Given the description of an element on the screen output the (x, y) to click on. 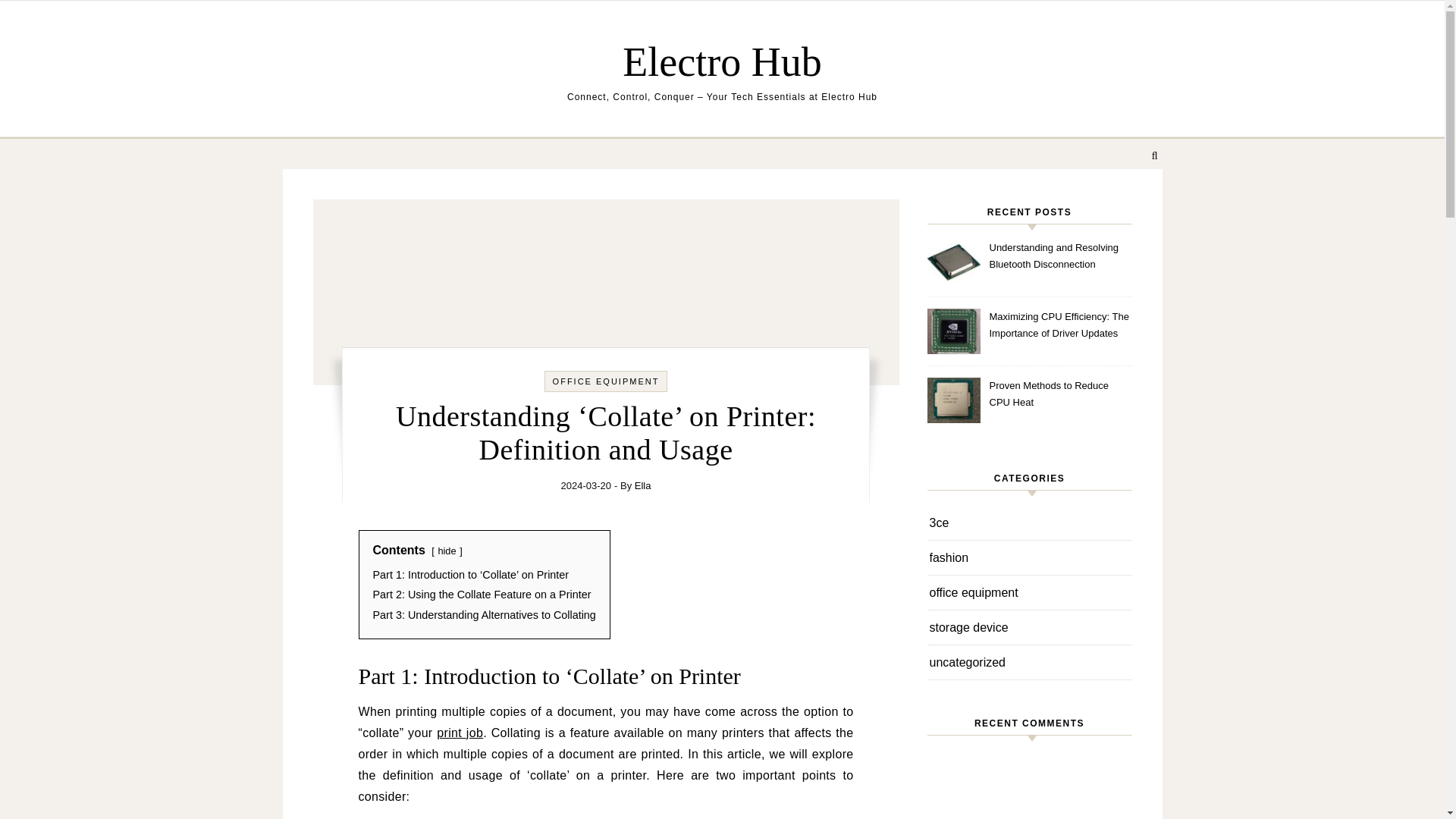
office equipment (973, 592)
Maximizing CPU Efficiency: The Importance of Driver Updates (1058, 325)
Electro Hub (721, 61)
hide (446, 550)
Proven Methods to Reduce CPU Heat (1058, 394)
OFFICE EQUIPMENT (606, 380)
uncategorized (968, 662)
Ella (642, 485)
Part 2: Using the Collate Feature on a Printer (481, 594)
storage device (969, 627)
